Given the description of an element on the screen output the (x, y) to click on. 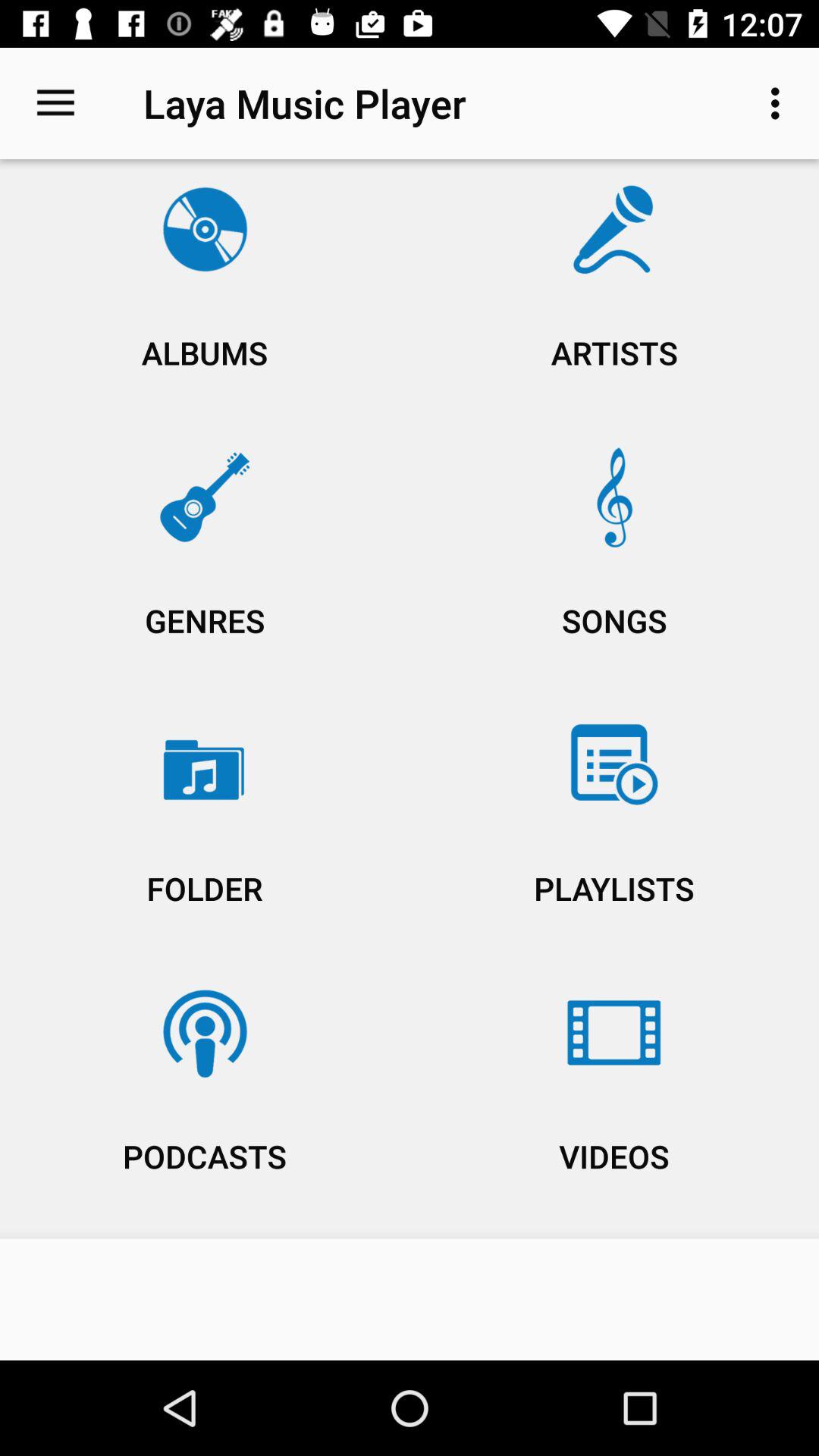
click the item above the genres (614, 297)
